Given the description of an element on the screen output the (x, y) to click on. 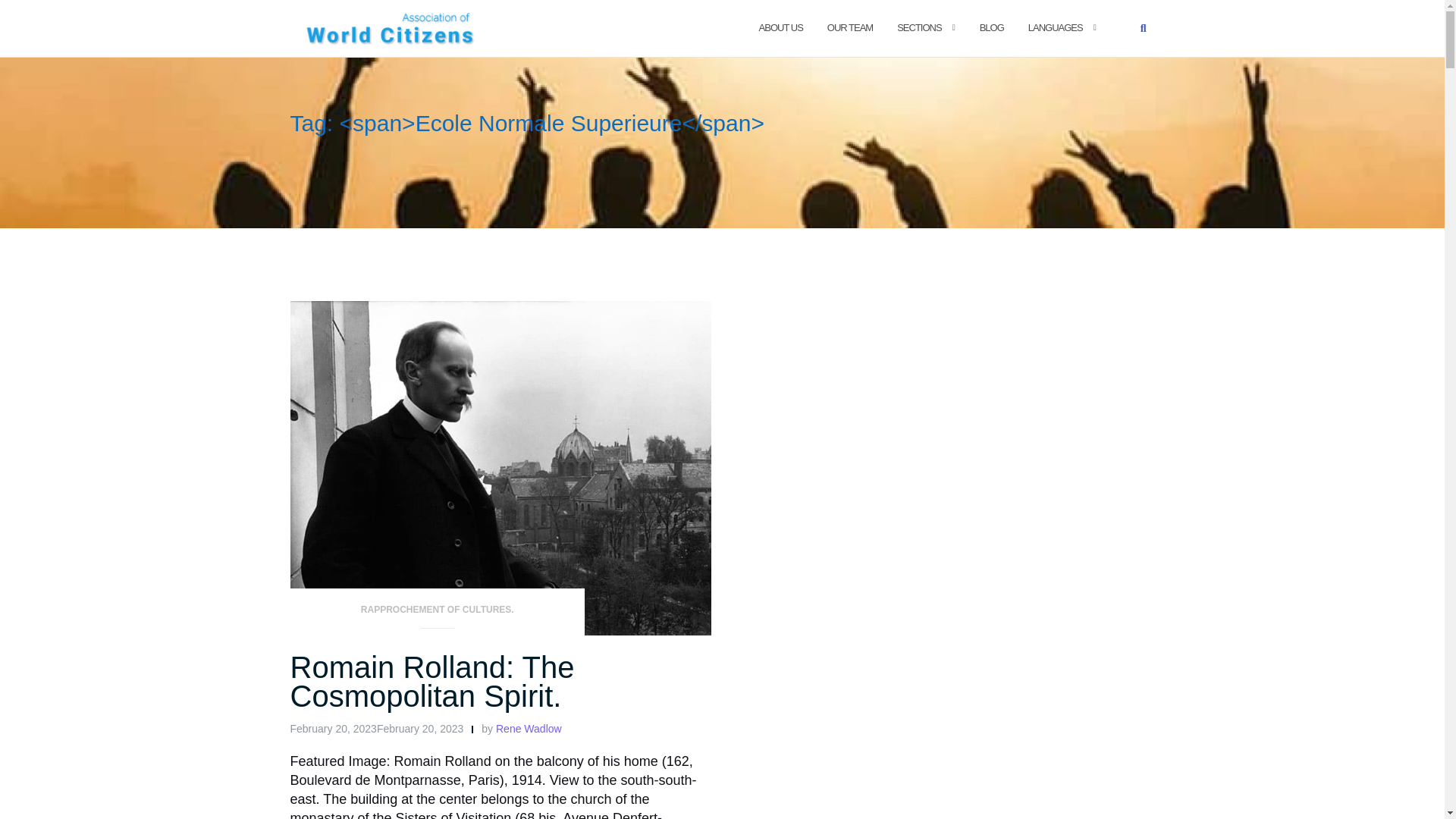
ABOUT US (780, 28)
SECTIONS (918, 28)
Our Team (849, 28)
Languages (1055, 28)
Rene Wadlow (529, 728)
RAPPROCHEMENT OF CULTURES. (437, 614)
About Us (780, 28)
OUR TEAM (849, 28)
Romain Rolland: The Cosmopolitan Spirit. (431, 681)
LANGUAGES (1055, 28)
Rene Wadlow (529, 728)
Sections (918, 28)
